Given the description of an element on the screen output the (x, y) to click on. 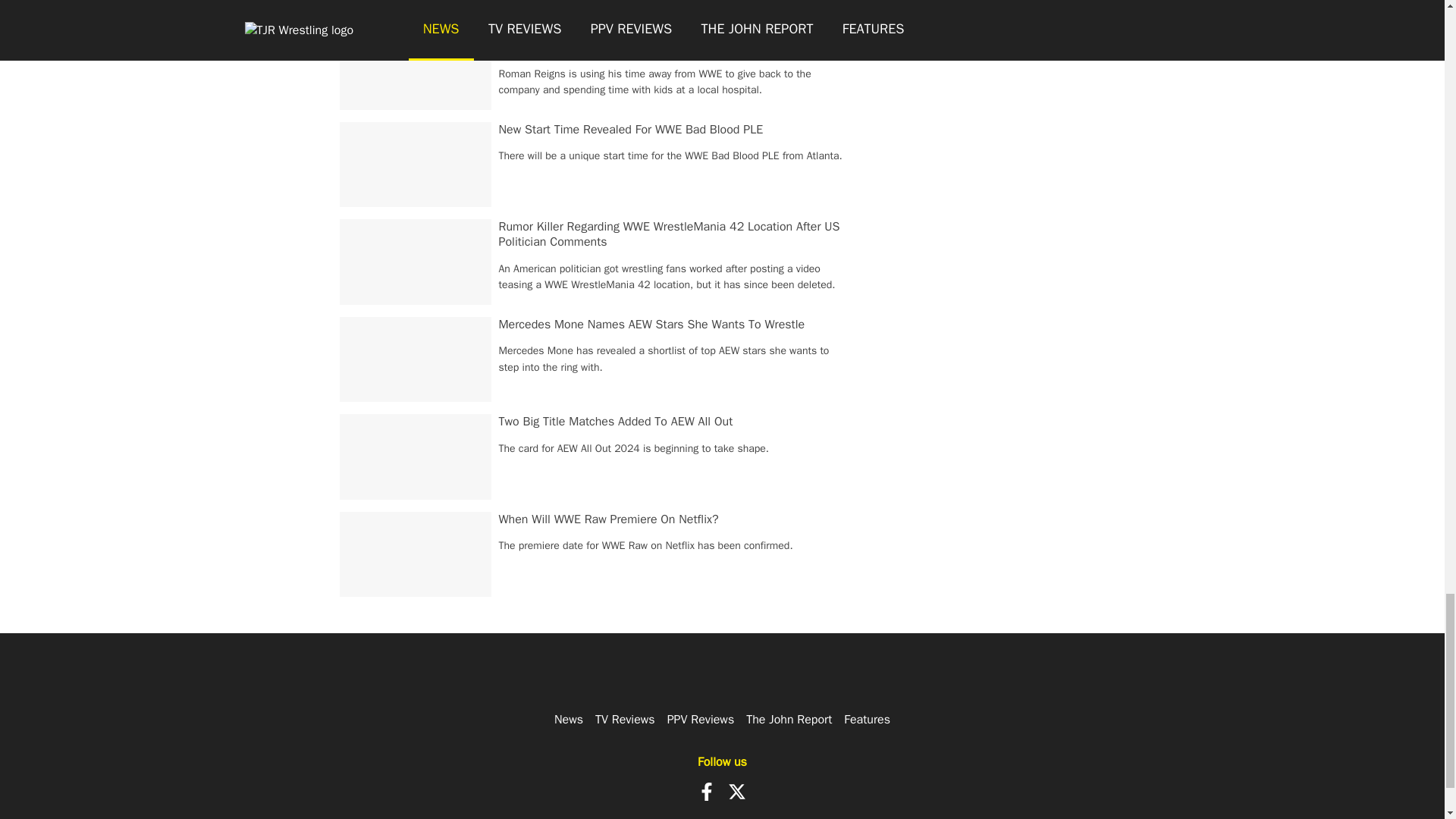
Facebook (706, 791)
New Start Time Revealed For WWE Bad Blood PLE (630, 129)
Mercedes Mone Names AEW Stars She Wants To Wrestle (652, 324)
X (736, 791)
